Given the description of an element on the screen output the (x, y) to click on. 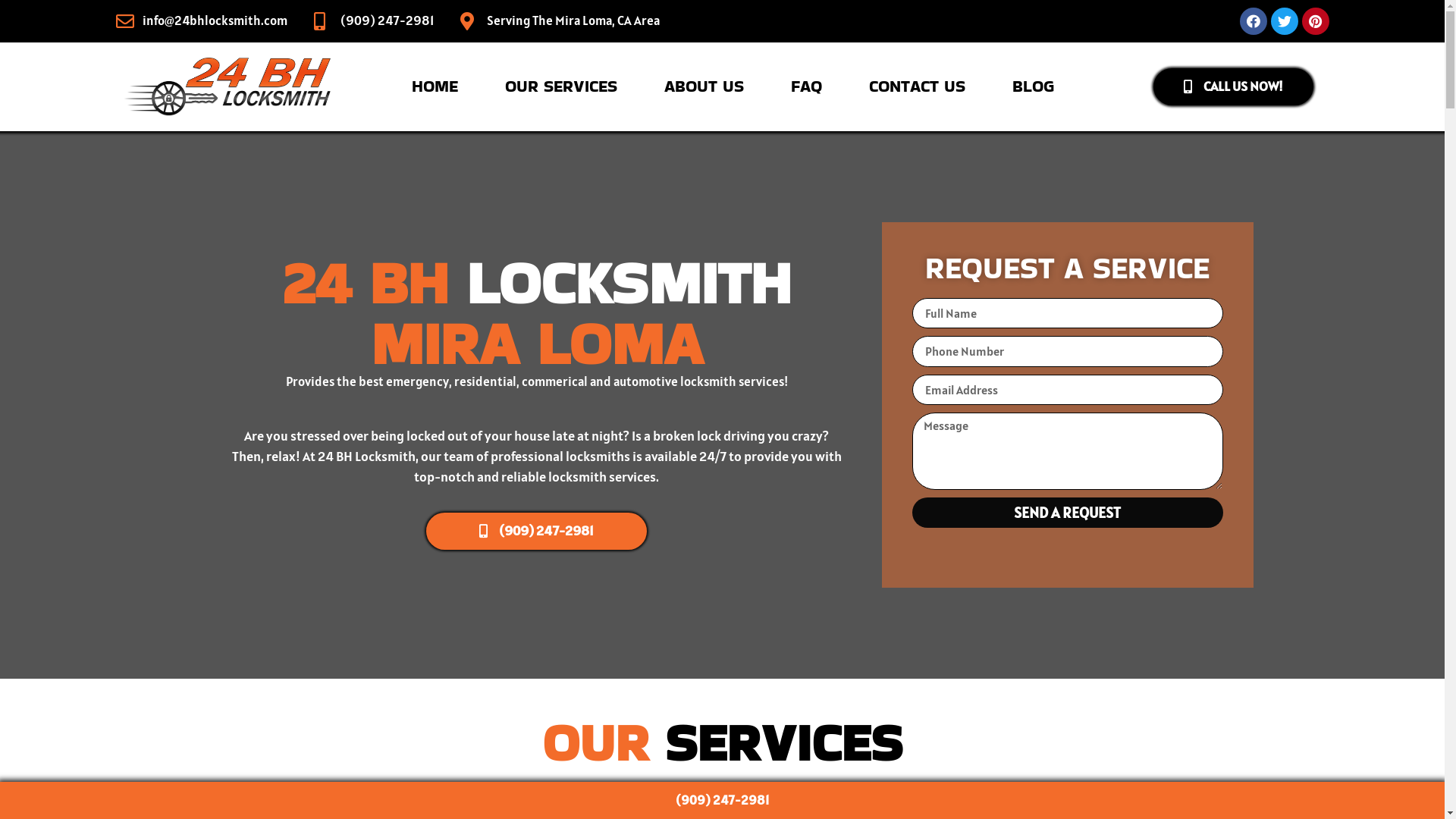
FAQ Element type: text (806, 86)
(909) 247-2981 Element type: text (536, 530)
info@24bhlocksmith.com Element type: text (214, 21)
OUR SERVICES Element type: text (560, 86)
CALL US NOW! Element type: text (1233, 86)
CONTACT US Element type: text (916, 86)
HOME Element type: text (434, 86)
ABOUT US Element type: text (704, 86)
(909) 247-2981 Element type: text (386, 21)
BLOG Element type: text (1033, 86)
SEND A REQUEST Element type: text (1066, 512)
